Given the description of an element on the screen output the (x, y) to click on. 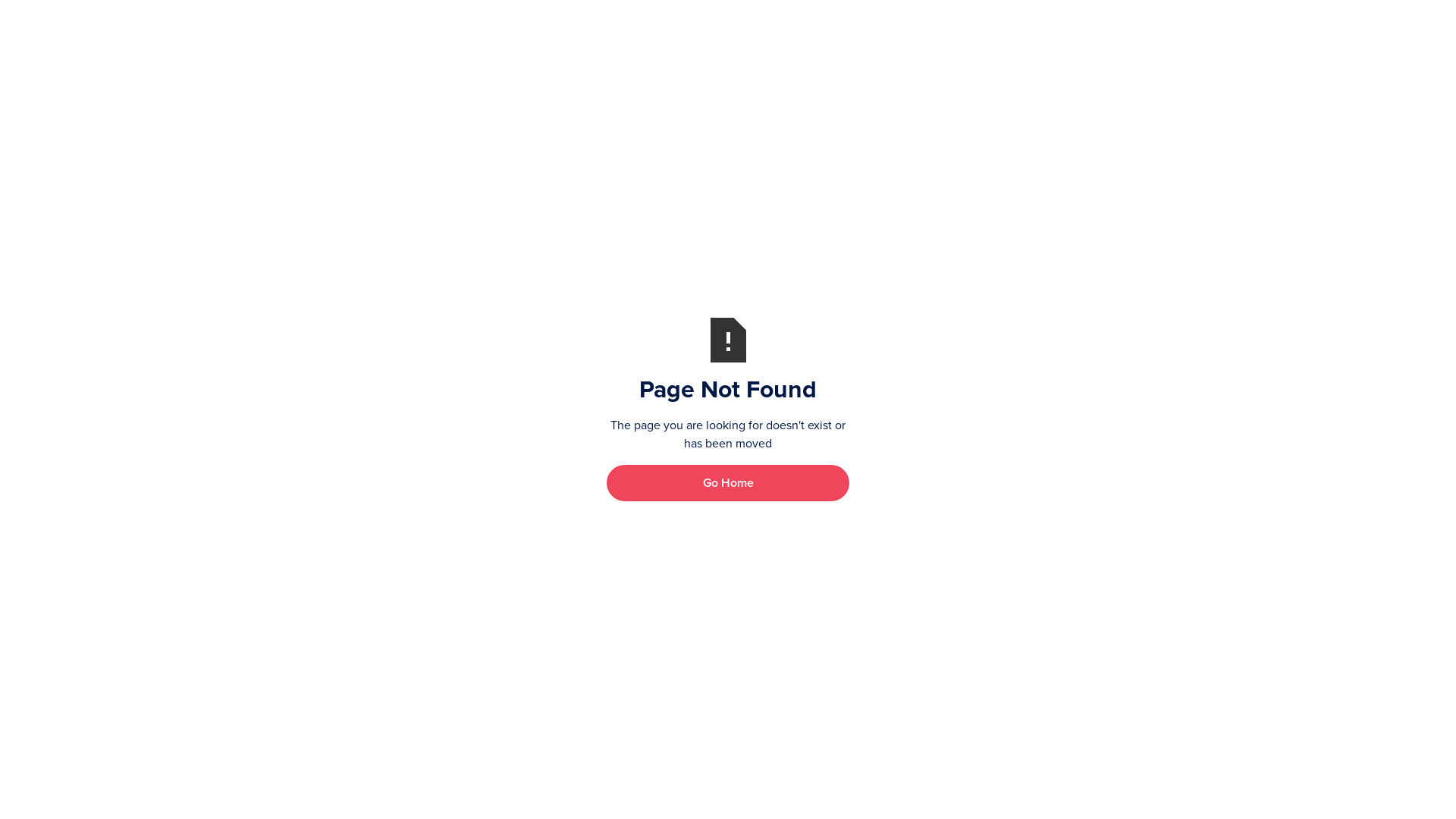
Go Home Element type: text (727, 482)
